Given the description of an element on the screen output the (x, y) to click on. 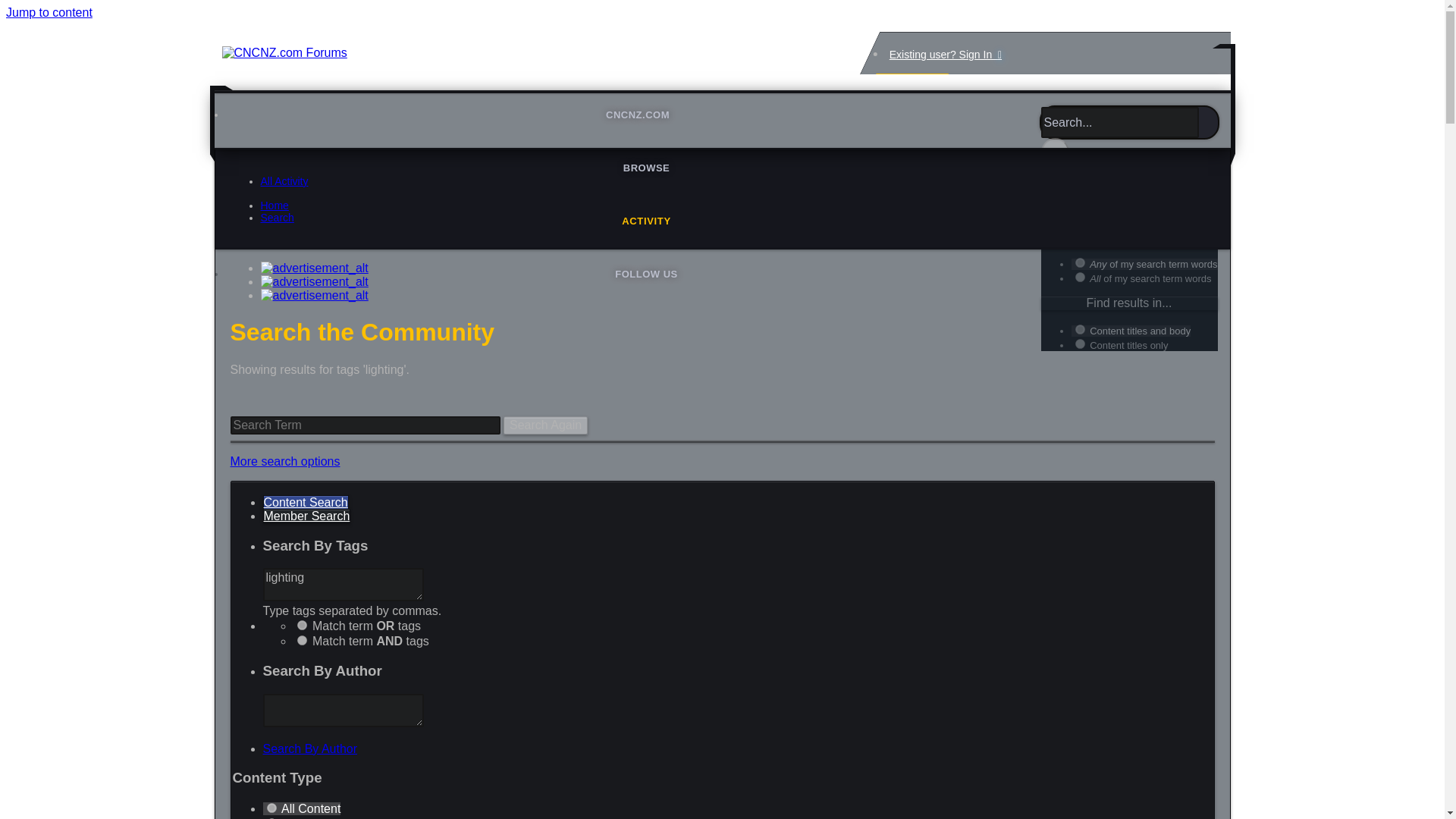
Home (274, 205)
Search our members (306, 515)
FOLLOW US (646, 273)
and (302, 640)
ACTIVITY (646, 220)
CNCNZ.COM (646, 114)
all (1079, 198)
Search in our content (304, 502)
or (302, 624)
Go to main content on this page (49, 11)
